Given the description of an element on the screen output the (x, y) to click on. 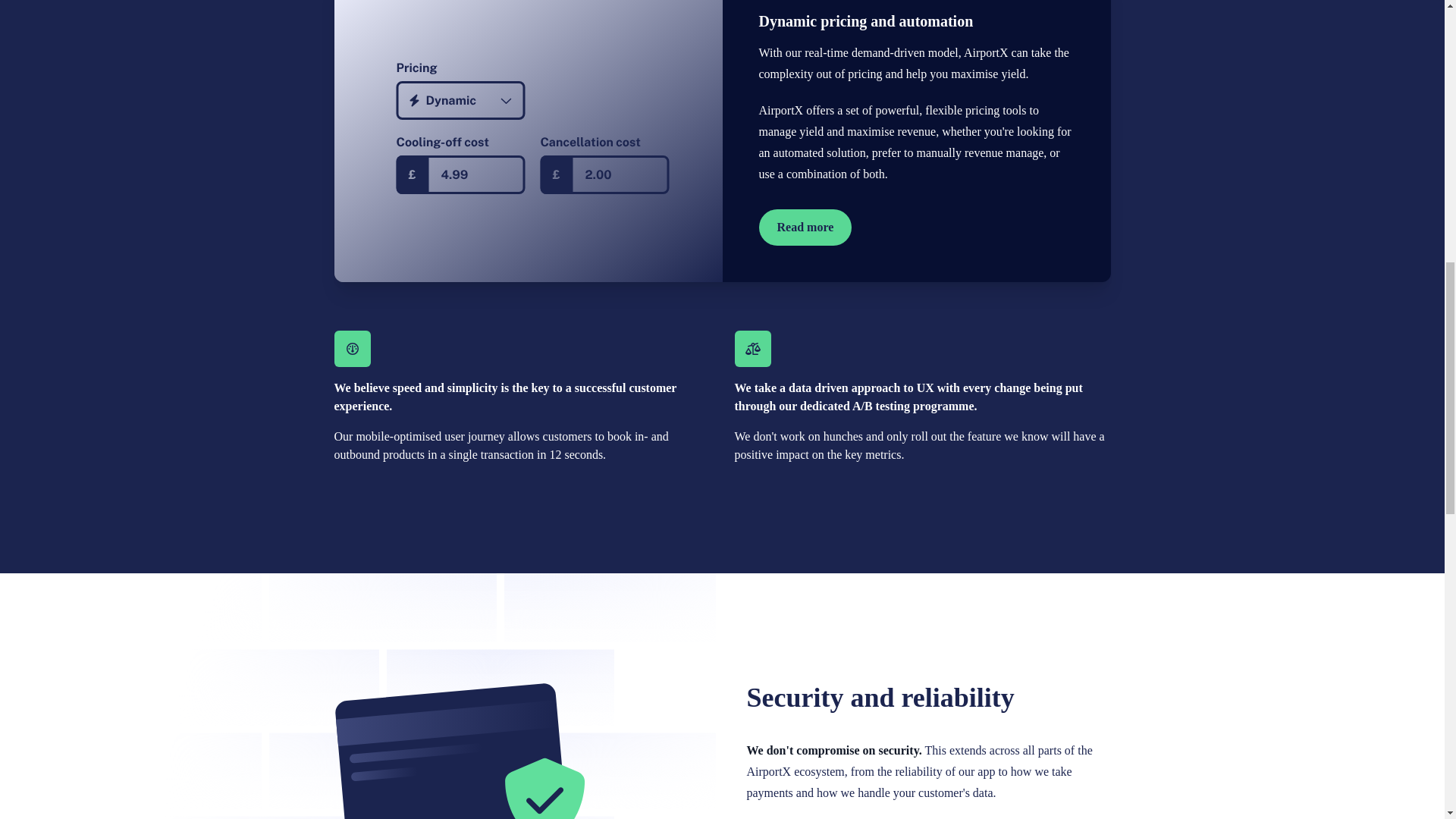
Read more (804, 227)
